Given the description of an element on the screen output the (x, y) to click on. 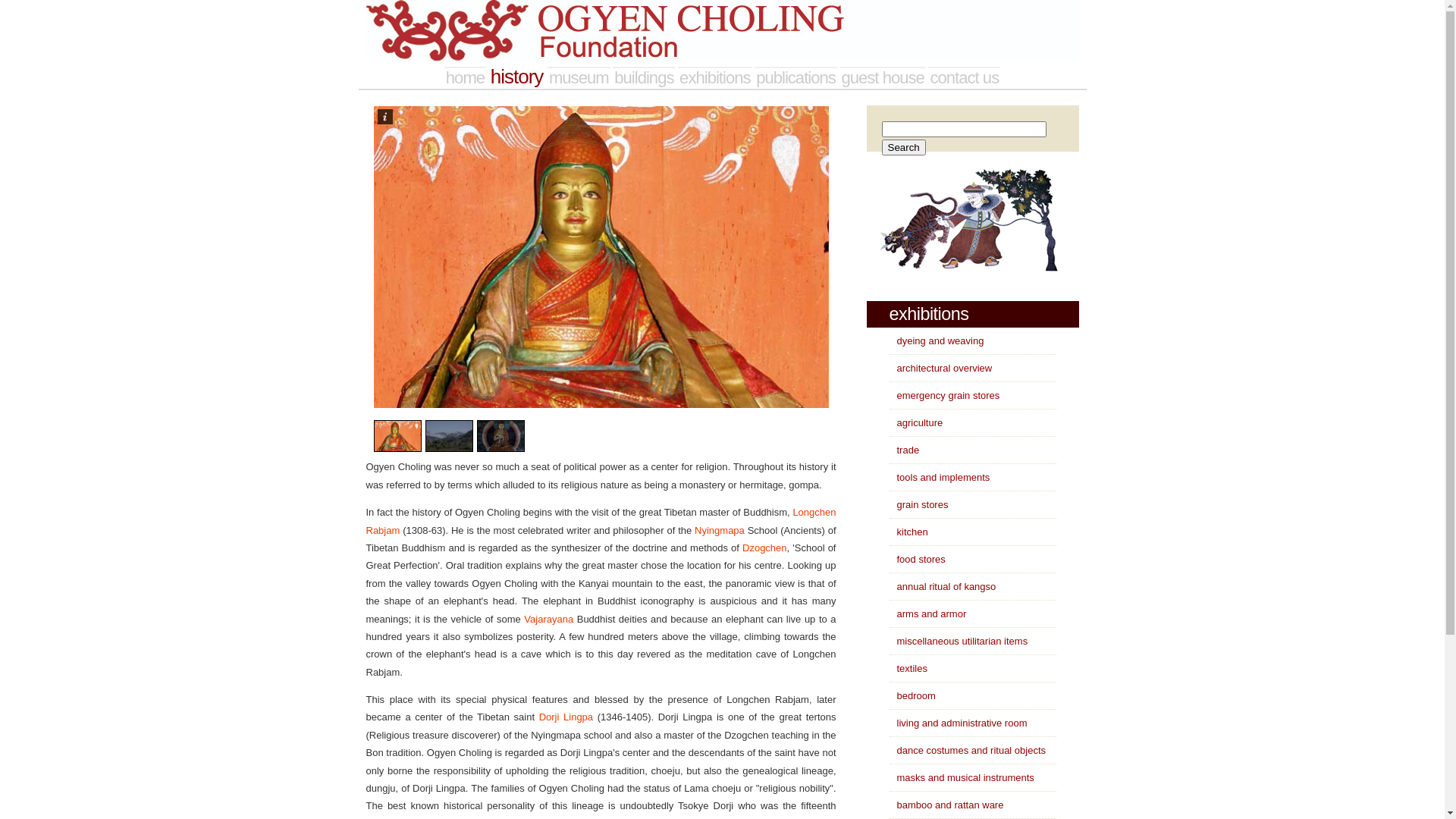
living and administrative room Element type: text (957, 722)
trade Element type: text (903, 449)
Search Element type: text (903, 147)
miscellaneous utilitarian items Element type: text (957, 640)
contact us Element type: text (964, 76)
Nyingmapa Element type: text (719, 530)
masks and musical instruments Element type: text (960, 777)
bamboo and rattan ware Element type: text (945, 804)
annual ritual of kangso Element type: text (941, 586)
museum Element type: text (578, 76)
publications Element type: text (795, 76)
grain stores Element type: text (917, 504)
home Element type: text (465, 76)
arms and armor Element type: text (927, 613)
dyeing and weaving Element type: text (935, 340)
agriculture Element type: text (915, 422)
textiles Element type: text (907, 668)
history Element type: text (517, 76)
bedroom Element type: text (911, 695)
food stores Element type: text (916, 558)
architectural overview Element type: text (939, 367)
exhibitions Element type: text (714, 76)
Dorji Lingpa Element type: text (566, 716)
guest house Element type: text (882, 76)
dance costumes and ritual objects Element type: text (966, 750)
tools and implements Element type: text (938, 477)
Dzogchen Element type: text (764, 547)
emergency grain stores Element type: text (943, 395)
buildings Element type: text (643, 76)
kitchen Element type: text (907, 531)
Vajarayana Element type: text (548, 618)
Longchen Rabjam Element type: text (600, 520)
